Given the description of an element on the screen output the (x, y) to click on. 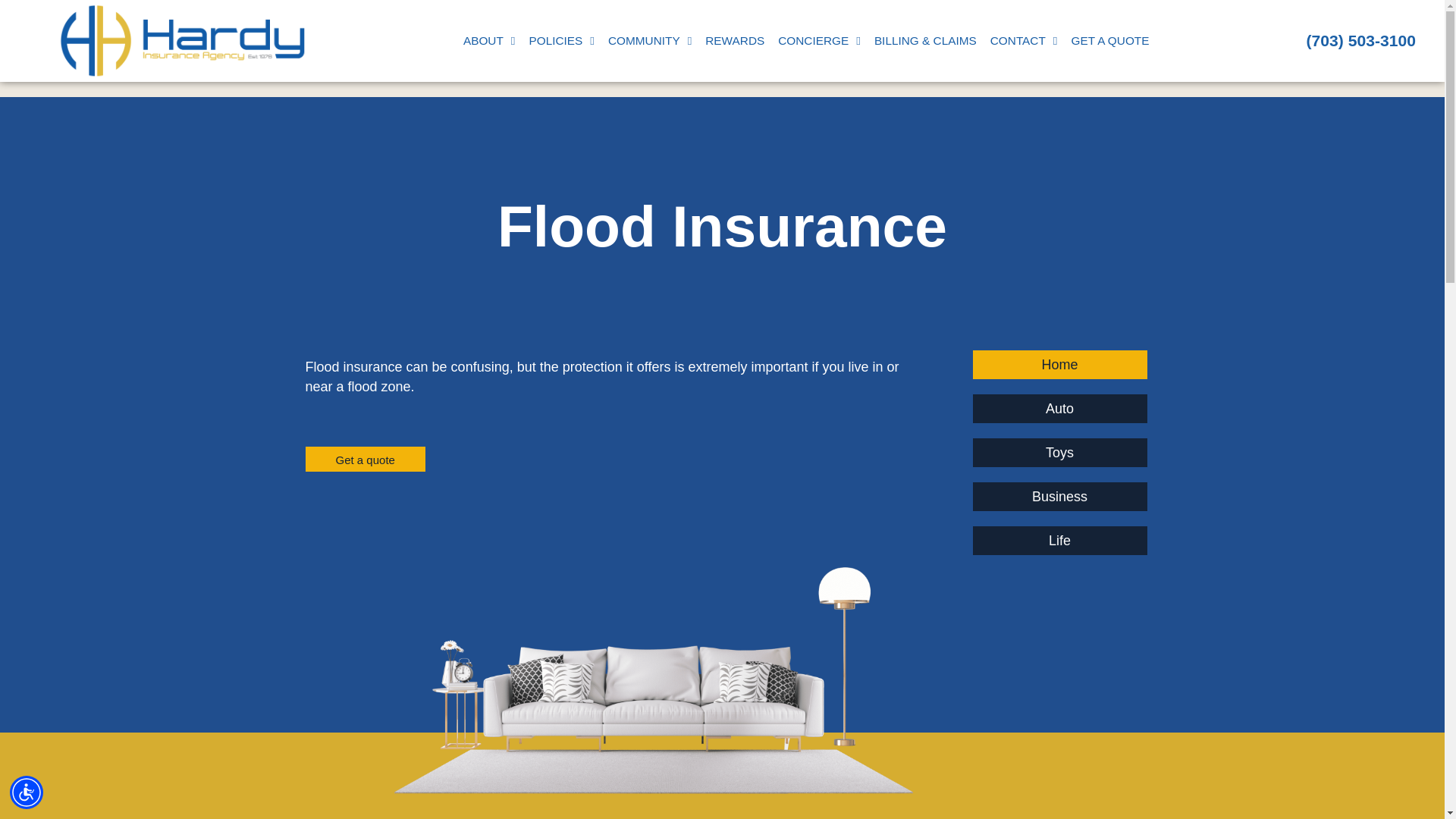
COMMUNITY (649, 40)
POLICIES (560, 40)
REWARDS (734, 40)
CONCIERGE (819, 40)
CONTACT (1024, 40)
Accessibility Menu (26, 792)
ABOUT (489, 40)
